Given the description of an element on the screen output the (x, y) to click on. 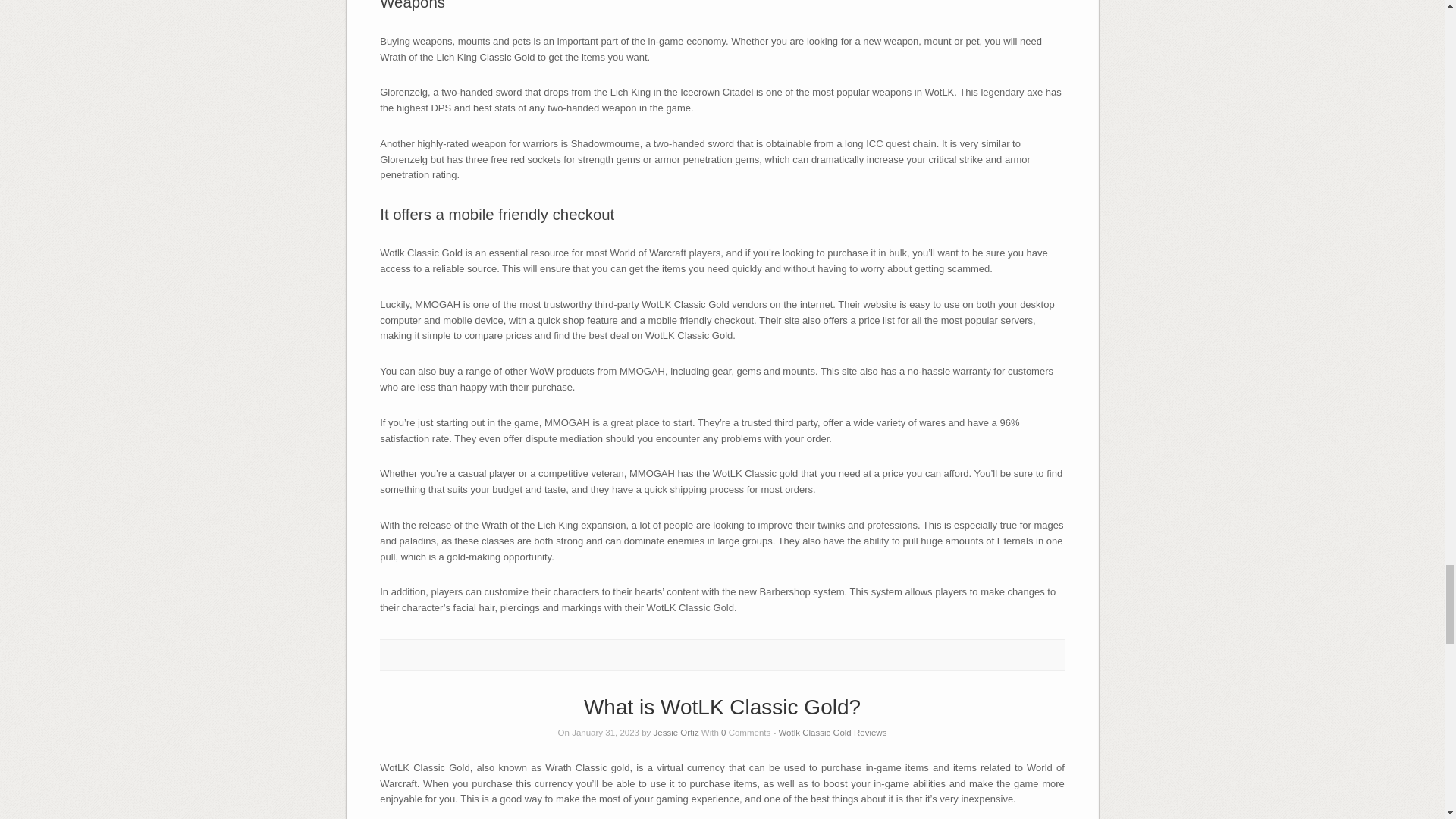
Jessie Ortiz (675, 732)
What is WotLK Classic Gold? (721, 707)
Wotlk Classic Gold Reviews (831, 732)
